Given the description of an element on the screen output the (x, y) to click on. 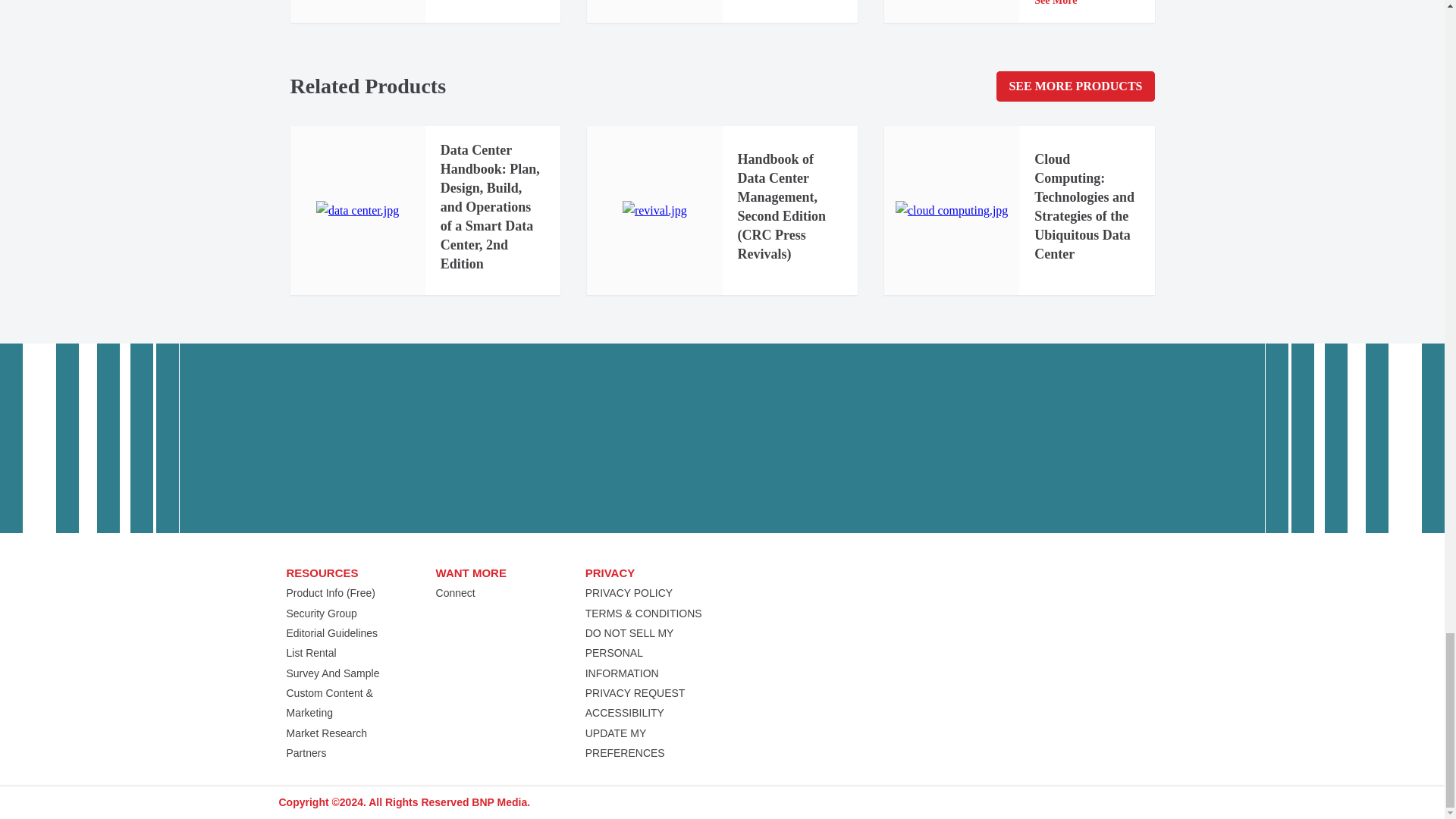
cloud computing.jpg (951, 210)
revival.jpg (655, 210)
data center.jpg (356, 210)
